Given the description of an element on the screen output the (x, y) to click on. 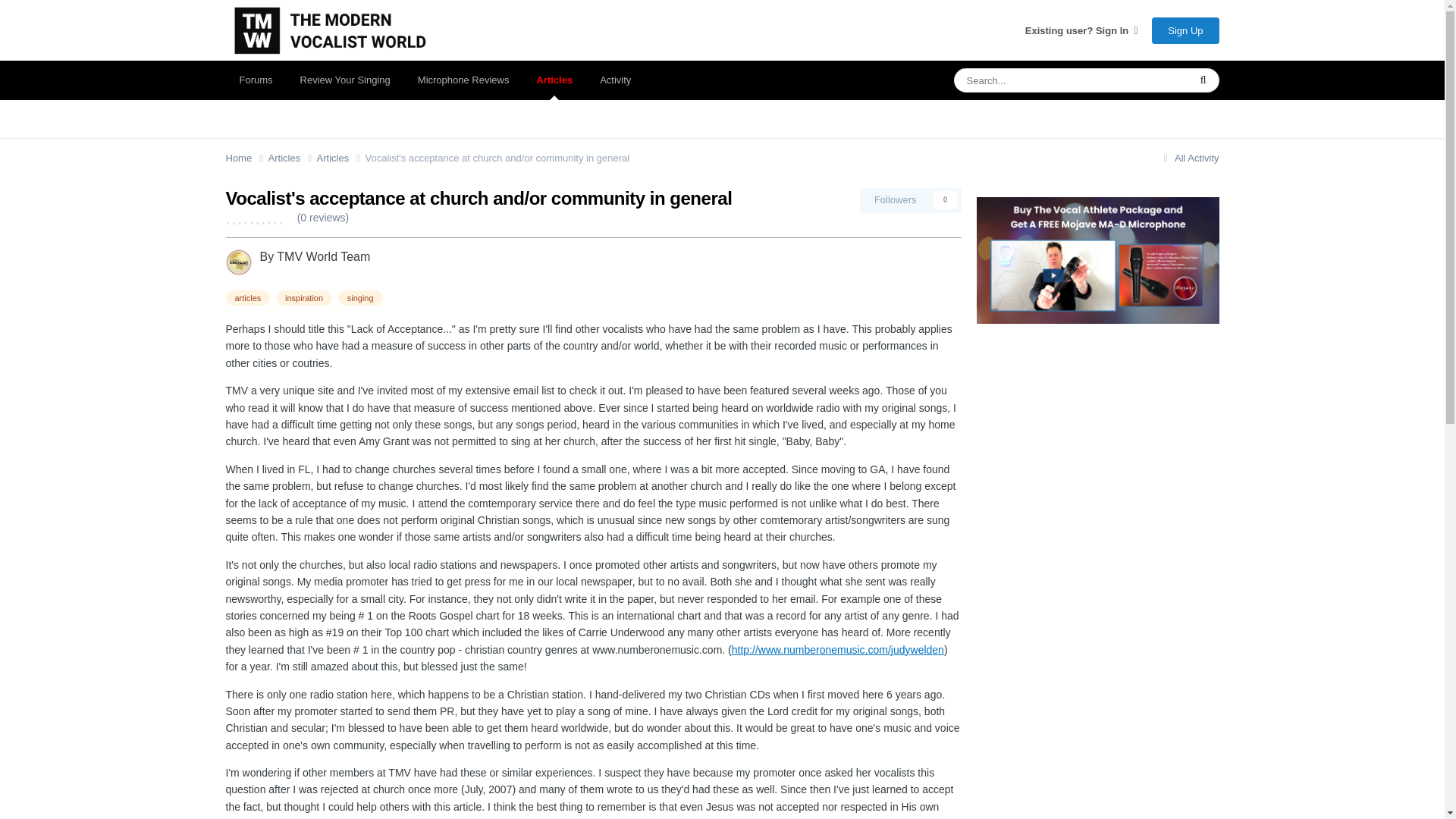
Forums (255, 79)
Existing user? Sign In   (1081, 30)
Sign Up (1184, 29)
Review Your Singing (345, 79)
Home (246, 158)
Microphone Reviews (463, 79)
Find other content tagged with 'inspiration' (303, 297)
Go to TMV World Team's profile (322, 256)
Find other content tagged with 'singing' (359, 297)
Articles (292, 158)
Home (246, 158)
inspiration (303, 297)
Find other content tagged with 'articles' (247, 297)
articles (247, 297)
Activity (615, 79)
